Given the description of an element on the screen output the (x, y) to click on. 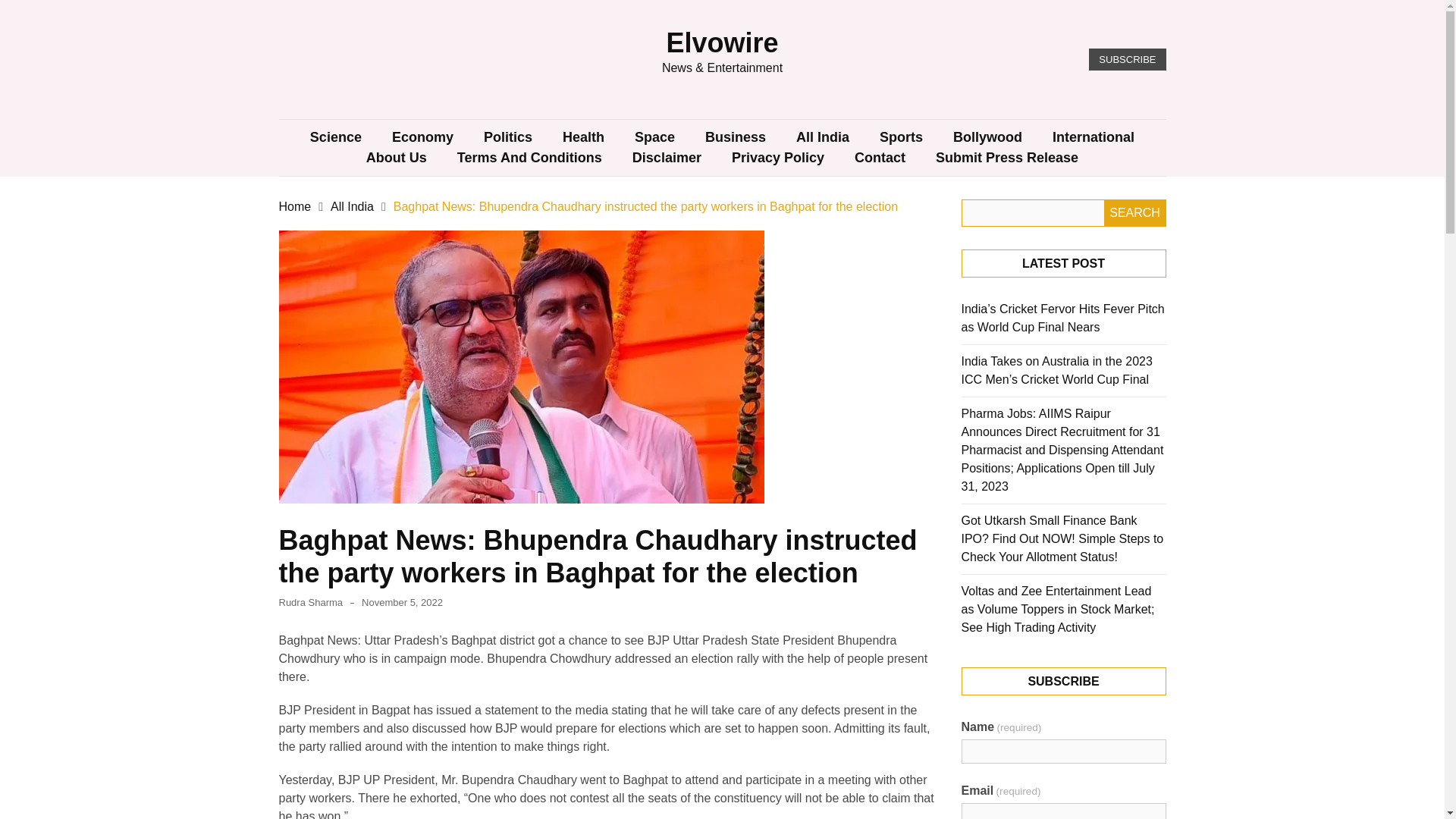
Business (735, 137)
All India (822, 137)
All India (352, 205)
International (1093, 137)
Sports (900, 137)
Home (295, 205)
SUBSCRIBE (1127, 59)
Politics (507, 137)
Elvowire (721, 42)
About Us (396, 158)
Economy (422, 137)
Disclaimer (666, 158)
Health (583, 137)
Terms And Conditions (529, 158)
Contact (880, 158)
